Given the description of an element on the screen output the (x, y) to click on. 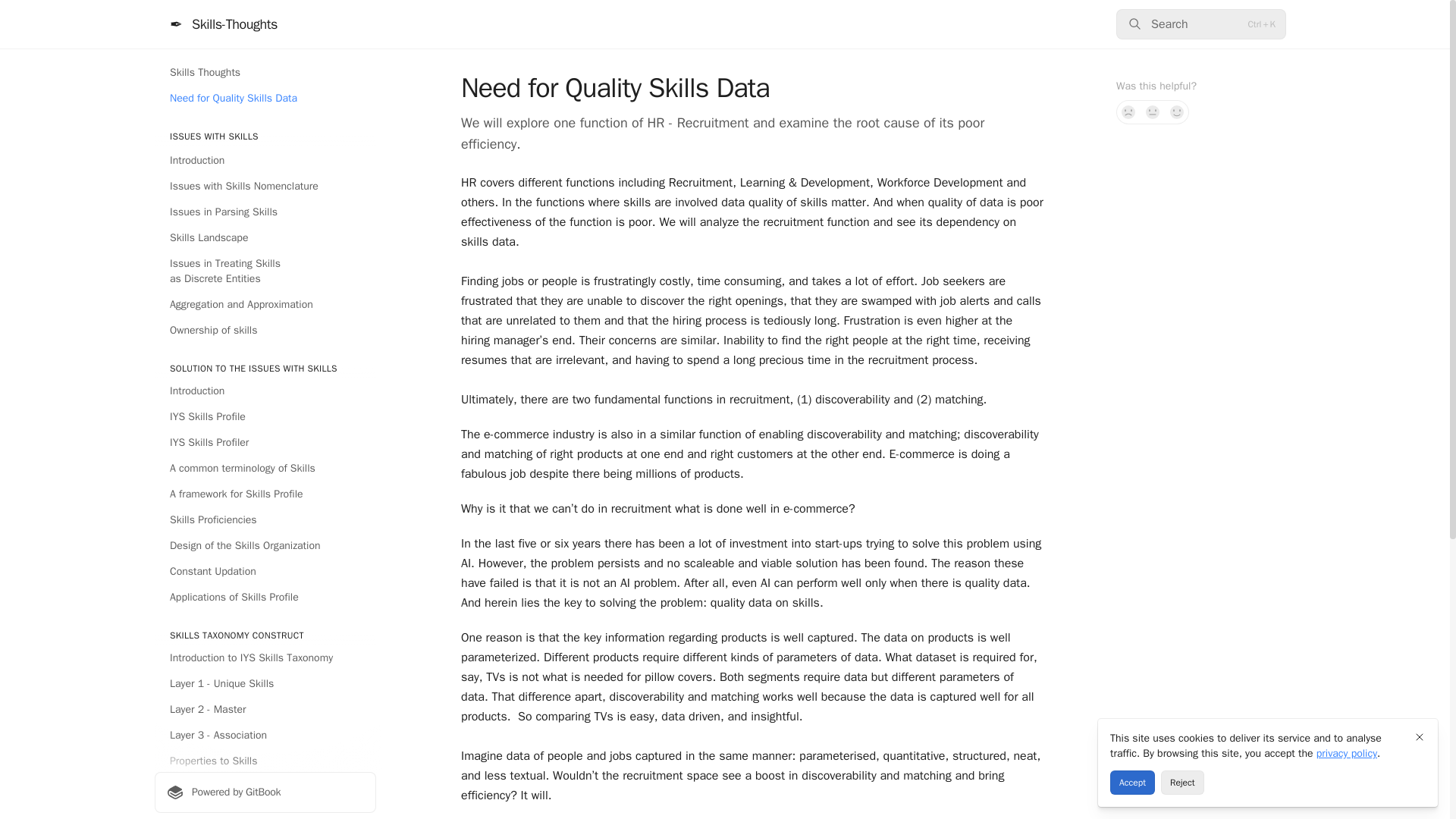
Introduction to IYS Skills Taxonomy (264, 658)
Process for Constructing Areas (264, 786)
Skills Updation Process (264, 809)
A common terminology of Skills (264, 468)
Applications of Skills Profile (264, 597)
Skills Landscape (264, 238)
Layer 2 - Master (264, 709)
No (1128, 111)
Yes, it was! (1176, 111)
Ownership of skills (264, 330)
IYS Skills Profiler (264, 442)
Layer 3 - Association (264, 735)
Reject (1182, 782)
Issues in Parsing Skills (264, 211)
Accept (1131, 782)
